Given the description of an element on the screen output the (x, y) to click on. 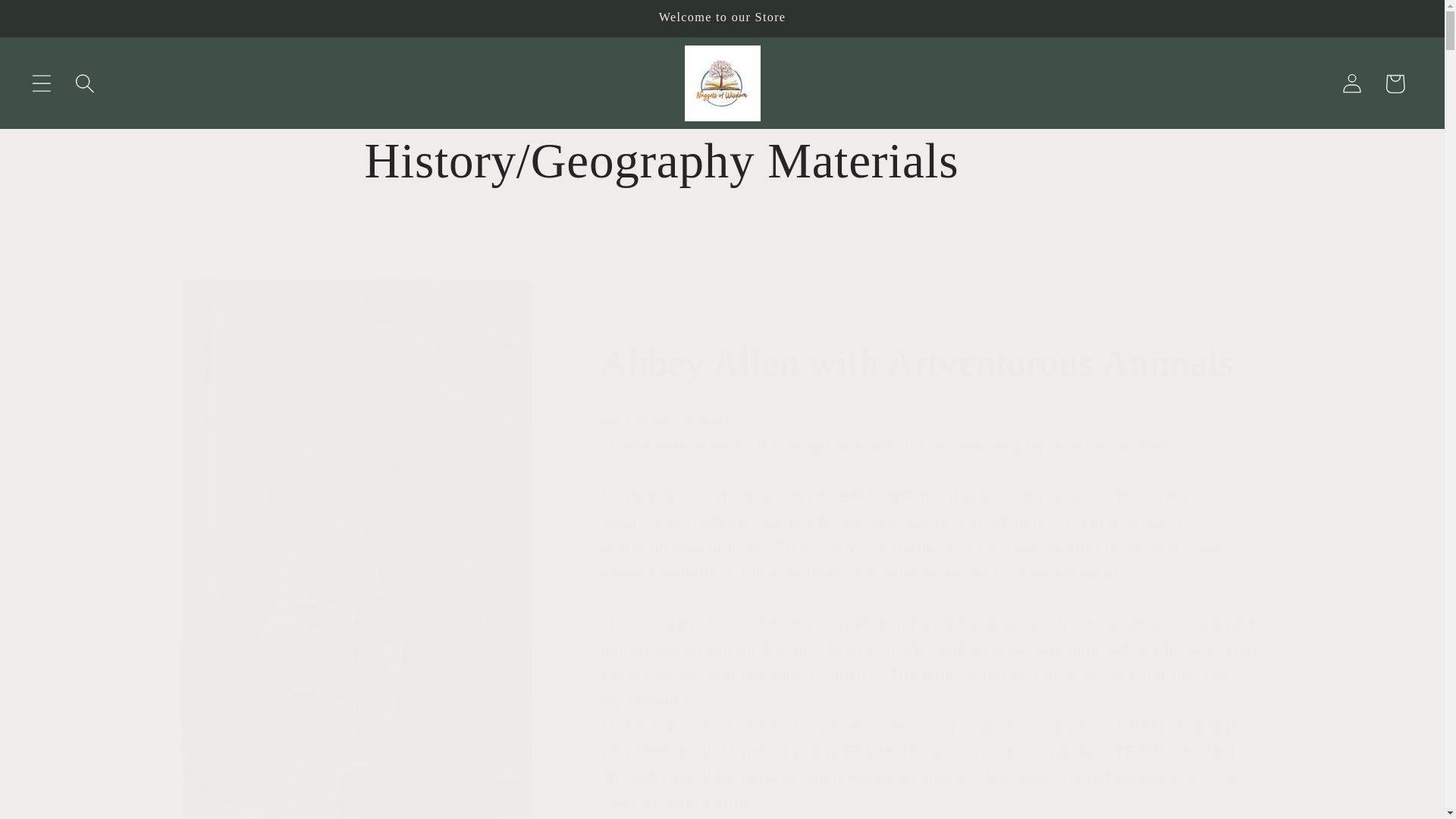
Skip to content (59, 22)
